Given the description of an element on the screen output the (x, y) to click on. 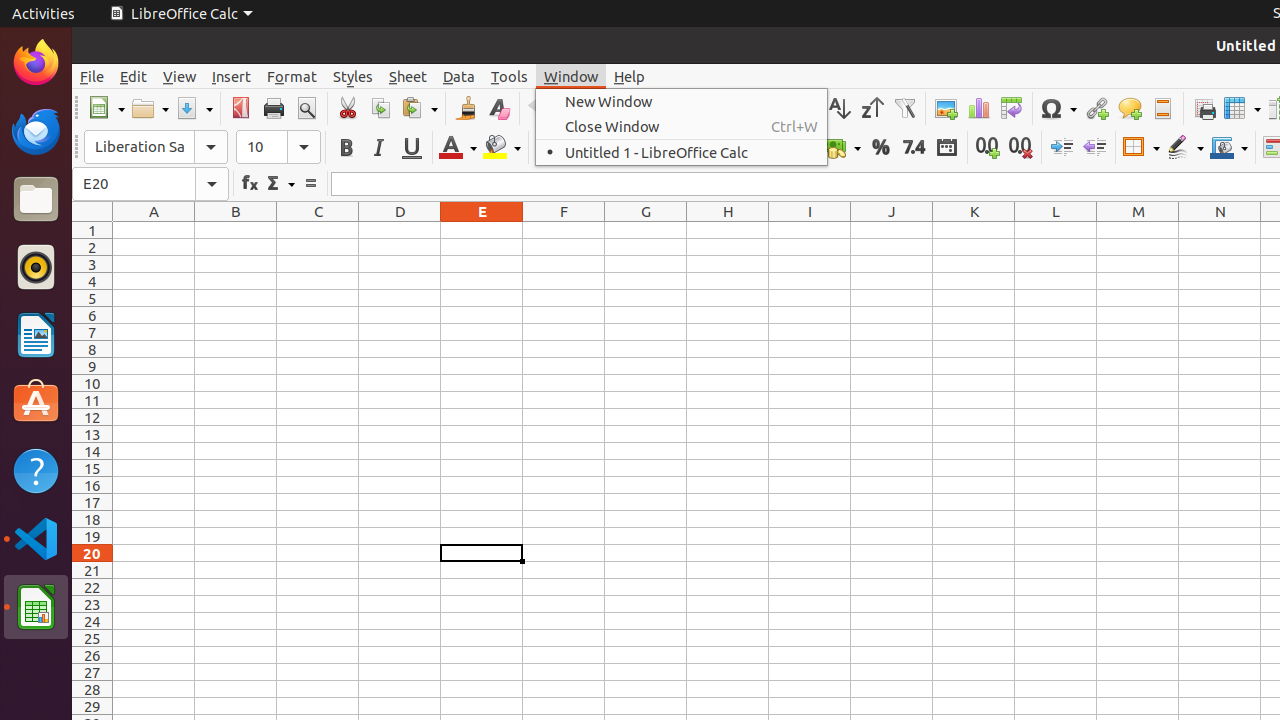
Sheet Element type: menu (408, 76)
Chart Element type: push-button (978, 108)
LibreOffice Writer Element type: push-button (36, 334)
LibreOffice Calc Element type: push-button (36, 607)
